Given the description of an element on the screen output the (x, y) to click on. 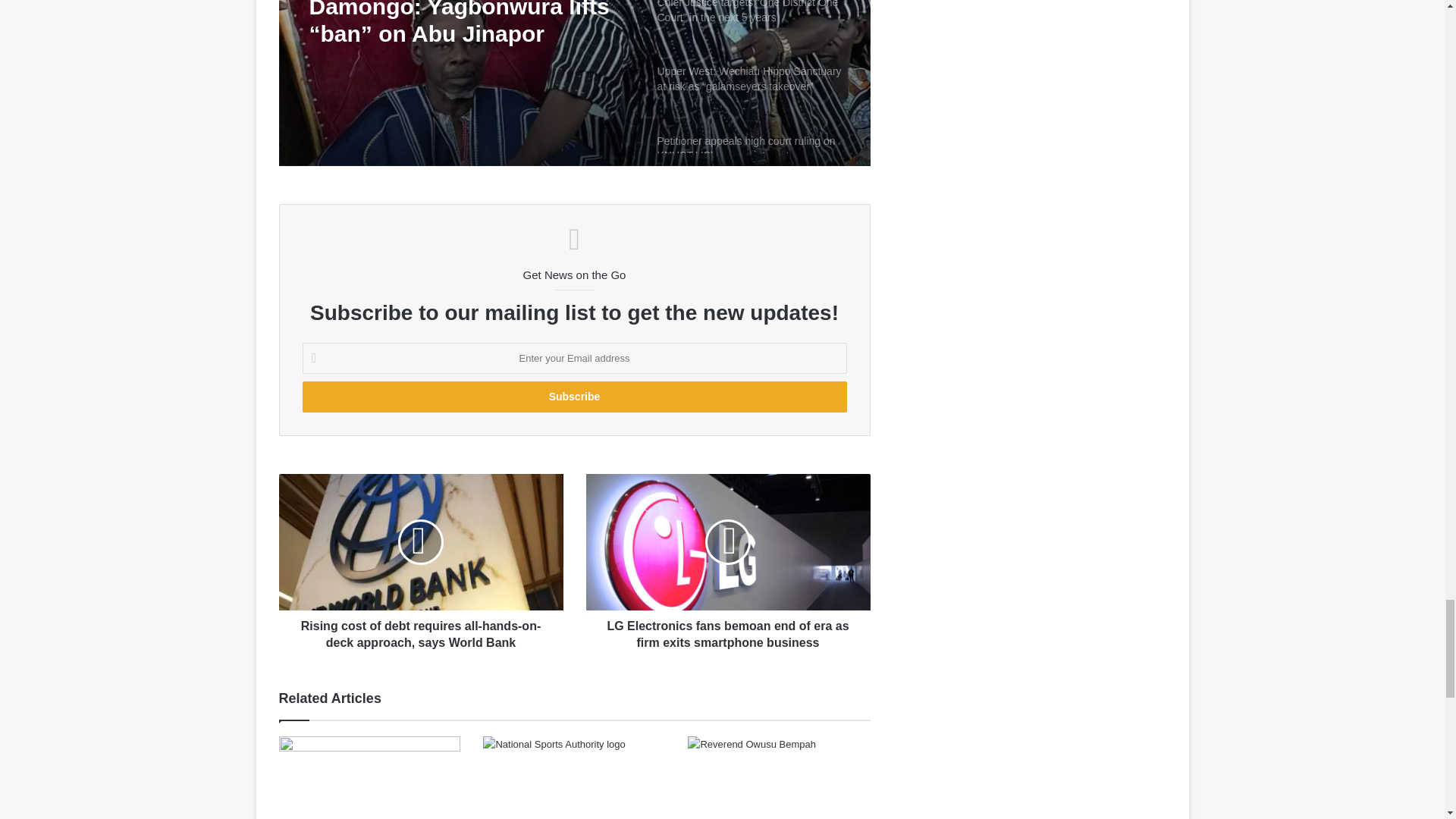
Subscribe (573, 396)
